Given the description of an element on the screen output the (x, y) to click on. 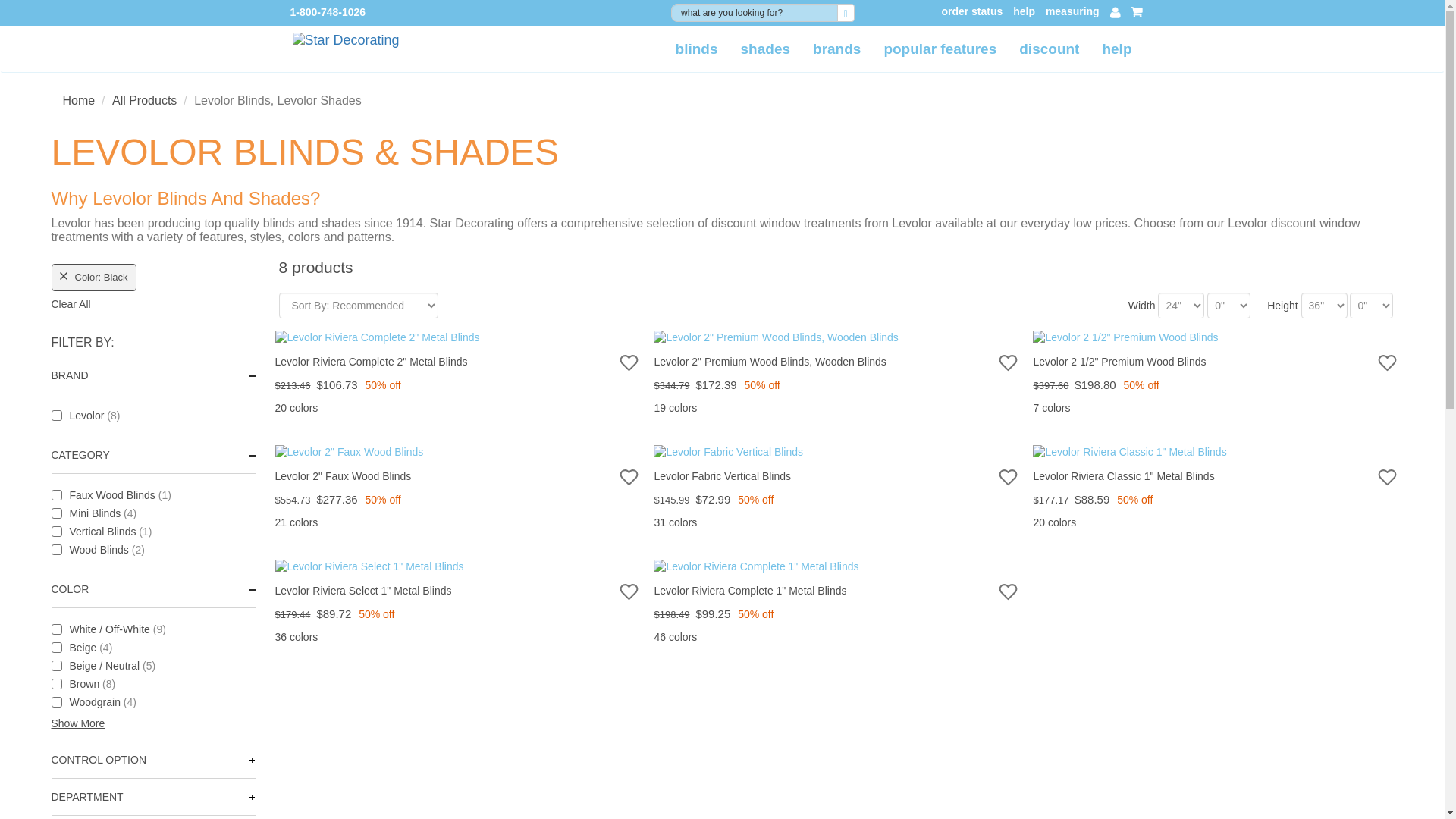
Cart (1136, 11)
Levolor Riviera Complete 2" Metal Blinds (457, 341)
Width (1228, 305)
blinds (696, 48)
Levolor 2" Premium Wood Blinds, Wooden Blinds (675, 408)
Your Account (1115, 12)
Levolor Riviera Complete 2" Metal Blinds (296, 408)
Levolor 2" Premium Wood Blinds, Wooden Blinds (835, 341)
shades (765, 48)
brands (837, 48)
popular features (939, 48)
measuring (1072, 11)
order status (971, 11)
help (1024, 11)
Width (1180, 305)
